Given the description of an element on the screen output the (x, y) to click on. 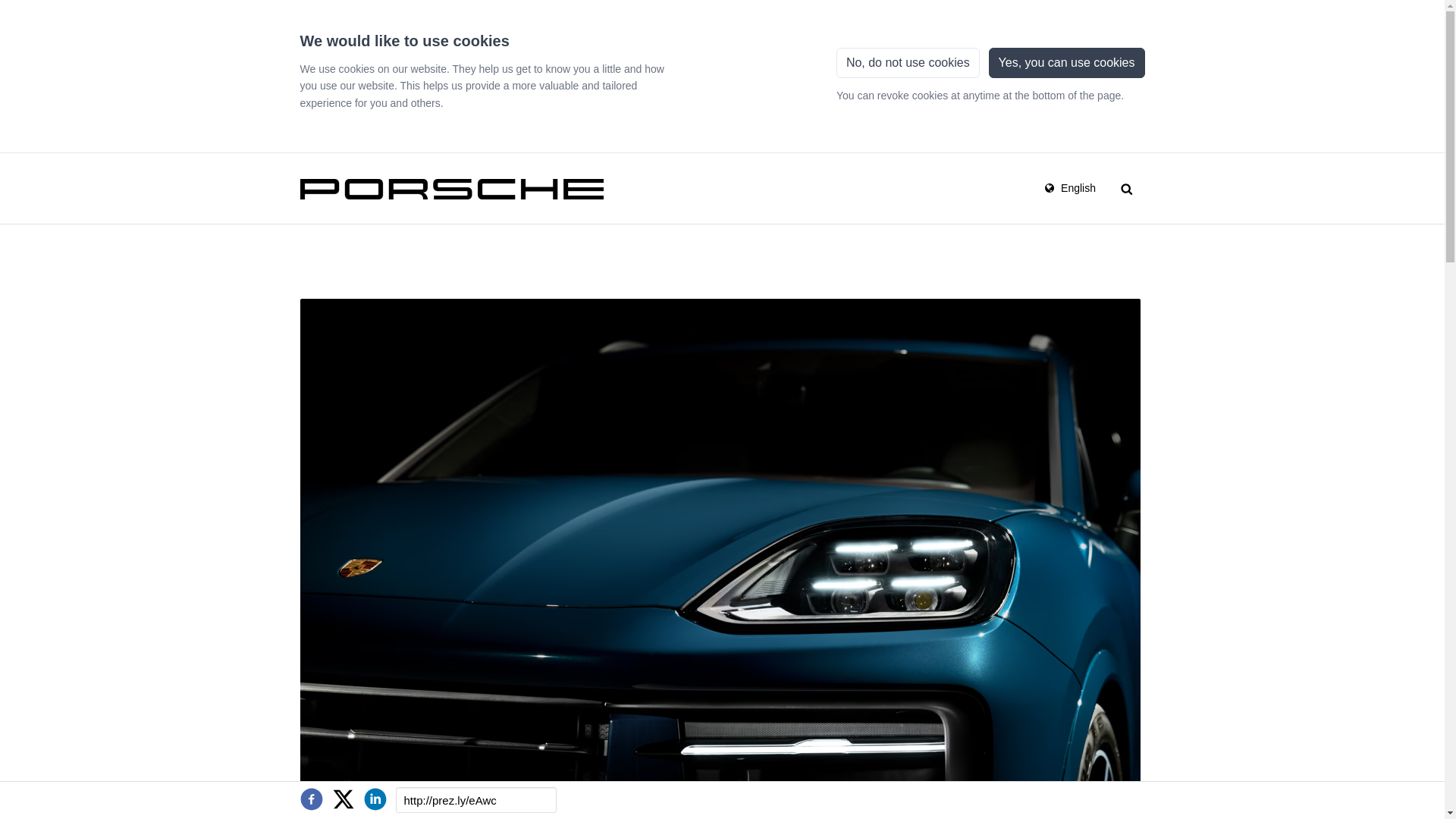
English (1069, 187)
No, do not use cookies (907, 62)
Porsche (451, 187)
Yes, you can use cookies (1066, 62)
English (1069, 187)
Search in newsroom (1126, 187)
